Given the description of an element on the screen output the (x, y) to click on. 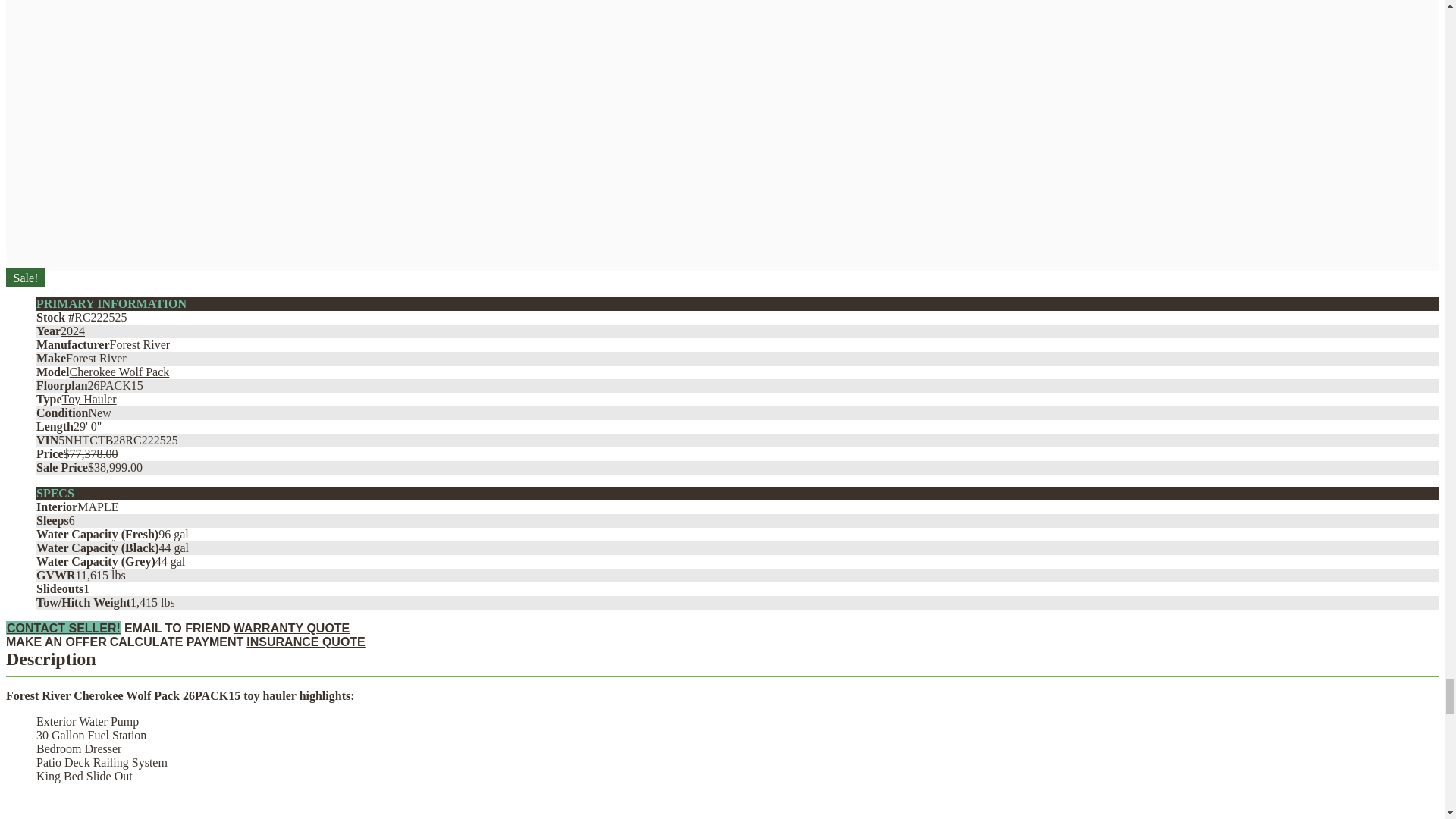
Toy Hauler (88, 399)
MAKE AN OFFER (55, 641)
View Forest River Toy Hauler RVs for sale (88, 399)
WARRANTY QUOTE (290, 627)
Make an offer on this unit (55, 641)
EMAIL TO FRIEND (176, 627)
View Forest River Cherokee Wolf Pack RVs for Sale (119, 371)
CONTACT SELLER! (62, 627)
Cherokee Wolf Pack (119, 371)
2024 (72, 330)
INSURANCE QUOTE (305, 641)
View 2024 Forest River RVs for sale (72, 330)
RV Insurance Quote (305, 641)
RV Extended Warranty Quote (290, 627)
CALCULATE PAYMENT (177, 641)
